Given the description of an element on the screen output the (x, y) to click on. 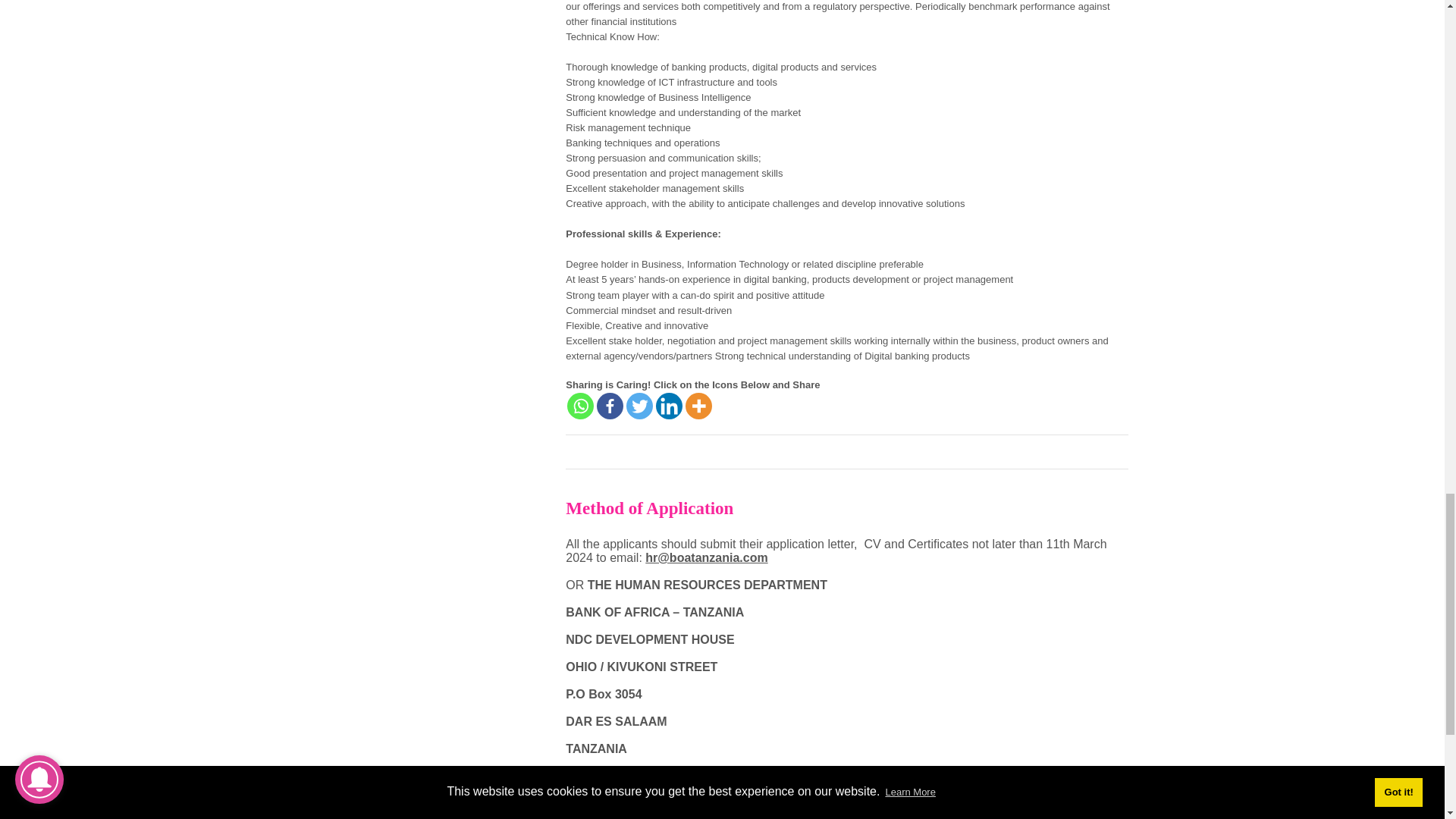
Twitter (639, 406)
Whatsapp (580, 406)
Linkedin (669, 406)
Facebook (609, 406)
More (698, 406)
